Given the description of an element on the screen output the (x, y) to click on. 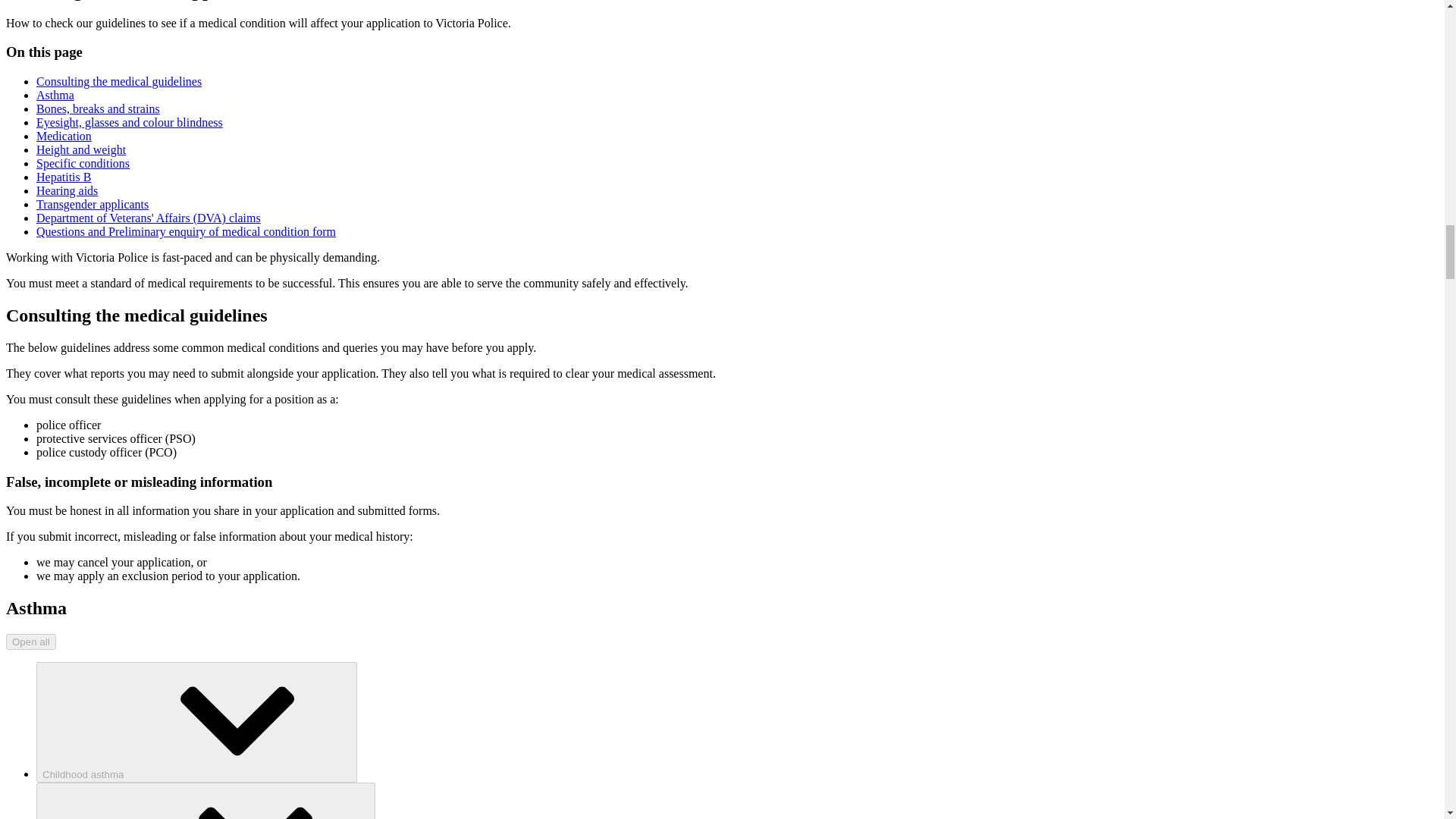
Asthma (55, 94)
Bones, breaks and strains (98, 108)
Hepatitis B (63, 176)
Questions and Preliminary enquiry of medical condition form (186, 231)
Hearing aids (66, 190)
Consulting the medical guidelines (119, 81)
Specific conditions (82, 163)
Medication for asthma (205, 800)
Eyesight, glasses and colour blindness (129, 122)
Open all (30, 641)
Medication (63, 135)
Height and weight (80, 149)
Transgender applicants (92, 204)
Childhood asthma (196, 721)
